Given the description of an element on the screen output the (x, y) to click on. 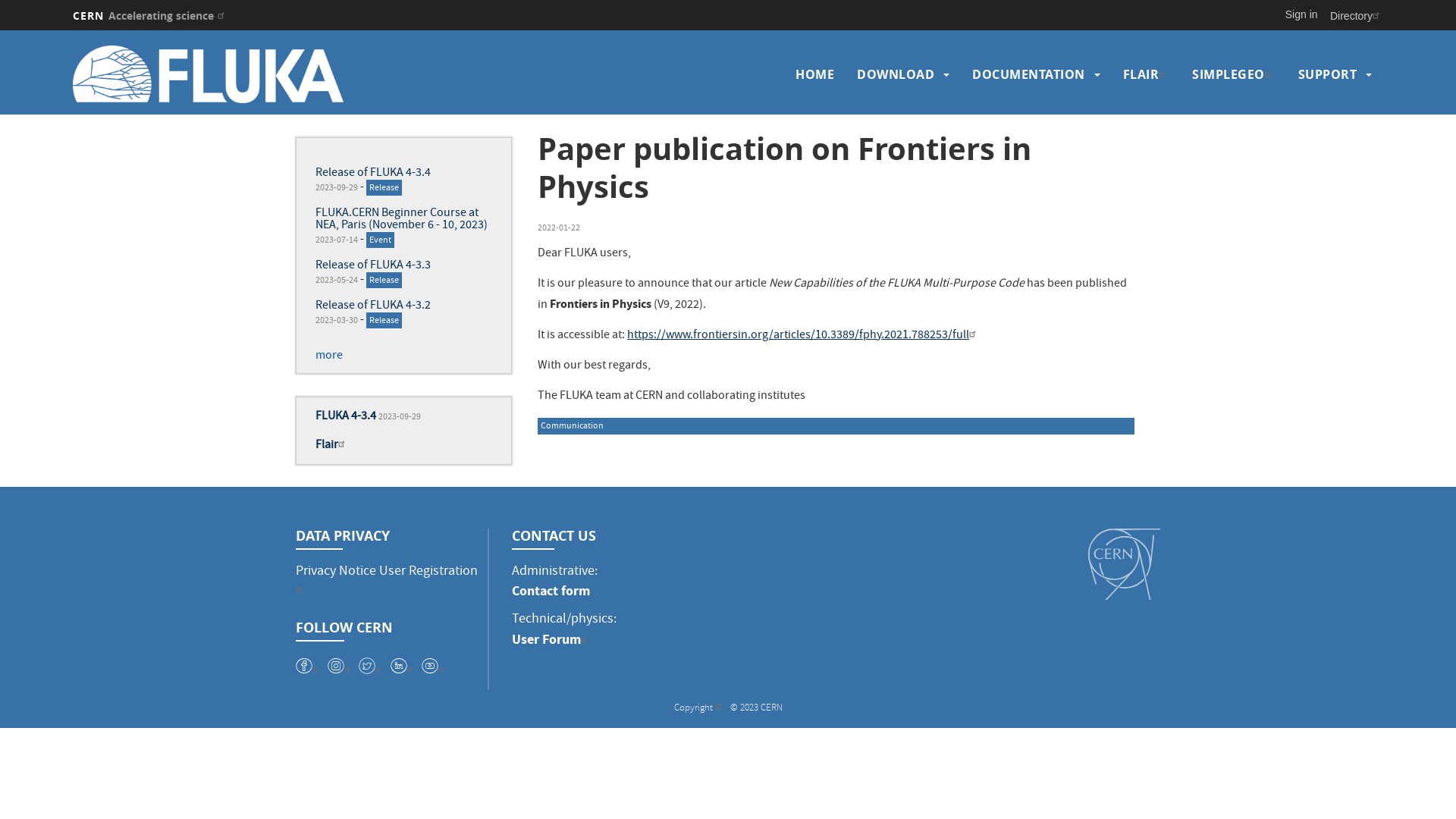
Privacy Notice User Registration(link is external) Element type: text (386, 581)
Release of FLUKA 4-3.4 Element type: text (372, 173)
Copyright (link is external) Element type: text (698, 708)
Directory(link is external) Element type: text (1356, 14)
J(link is external) Element type: text (340, 665)
Home Element type: hover (232, 74)
DOWNLOAD Element type: text (895, 74)
W(link is external) Element type: text (371, 665)
CERN Element type: hover (1124, 563)
FLAIR(LINK IS EXTERNAL) Element type: text (1145, 74)
Skip to main content Element type: text (0, 30)
Flair(link is external) Element type: text (331, 445)
M(link is external) Element type: text (403, 665)
FLUKA 4-3.4 Element type: text (345, 416)
v(link is external) Element type: text (309, 665)
User Forum(link is external) Element type: text (551, 639)
CERN Accelerating science (link is external) Element type: text (150, 14)
SIMPLEGEO(LINK IS EXTERNAL) Element type: text (1233, 74)
1(link is external) Element type: text (434, 665)
Release of FLUKA 4-3.2 Element type: text (372, 306)
DOCUMENTATION Element type: text (1028, 74)
Contact form Element type: text (550, 590)
Release of FLUKA 4-3.3 Element type: text (372, 266)
HOME Element type: text (814, 74)
SUPPORT Element type: text (1327, 74)
more Element type: text (328, 356)
Sign in Element type: text (1301, 14)
